Given the description of an element on the screen output the (x, y) to click on. 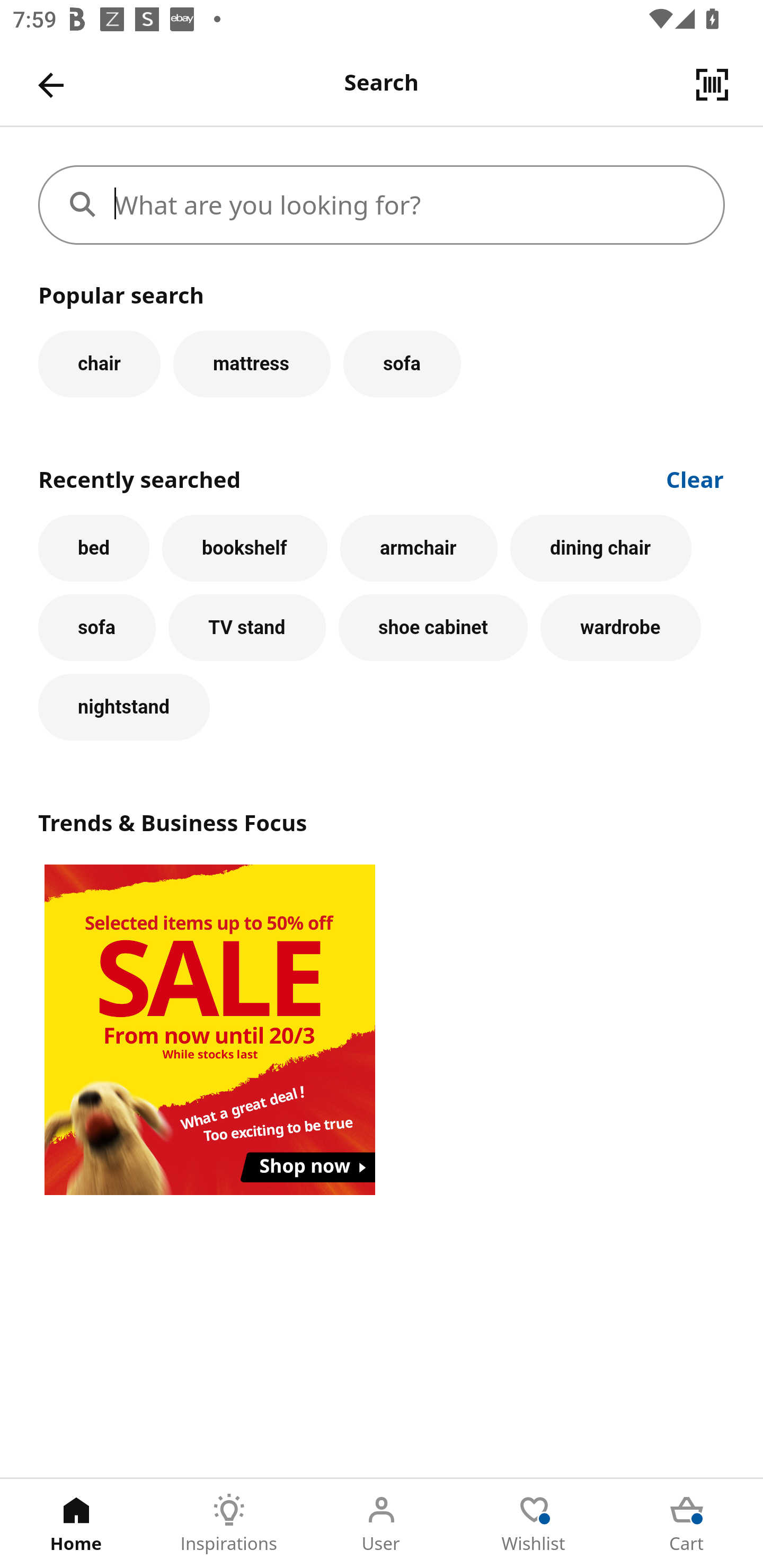
chair (99, 363)
mattress (251, 363)
sofa (401, 363)
Clear (695, 477)
bed (93, 547)
bookshelf (244, 547)
armchair (418, 547)
dining chair (600, 547)
sofa (96, 627)
TV stand (246, 627)
shoe cabinet (432, 627)
wardrobe (620, 627)
nightstand (123, 707)
Home
Tab 1 of 5 (76, 1522)
Inspirations
Tab 2 of 5 (228, 1522)
User
Tab 3 of 5 (381, 1522)
Wishlist
Tab 4 of 5 (533, 1522)
Cart
Tab 5 of 5 (686, 1522)
